Given the description of an element on the screen output the (x, y) to click on. 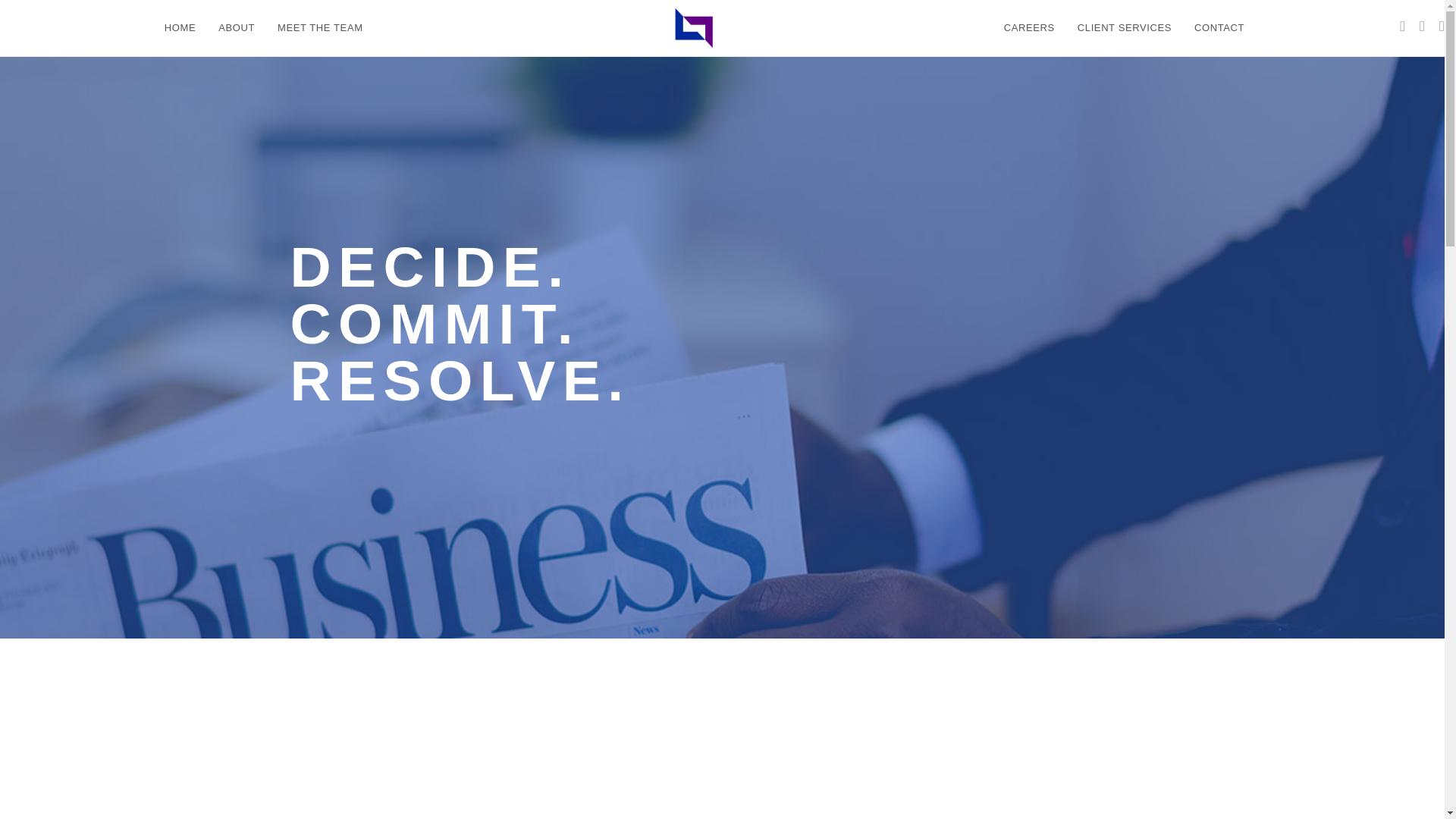
HOME (179, 28)
CONTACT (1218, 28)
CLIENT SERVICES (1123, 28)
MEET THE TEAM (320, 28)
CAREERS (1028, 28)
ABOUT (236, 28)
